Given the description of an element on the screen output the (x, y) to click on. 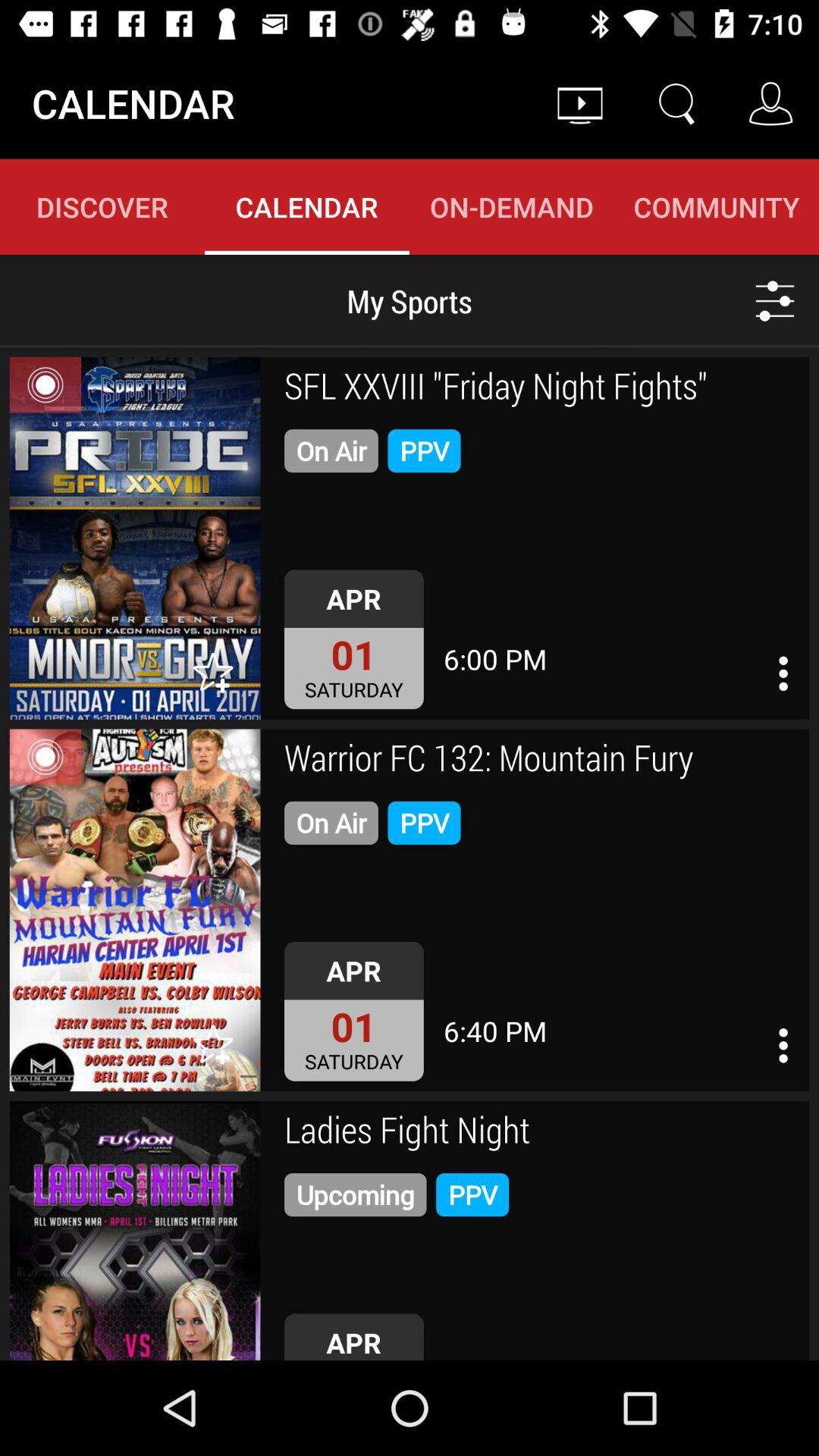
launch icon below saturday (541, 1132)
